Given the description of an element on the screen output the (x, y) to click on. 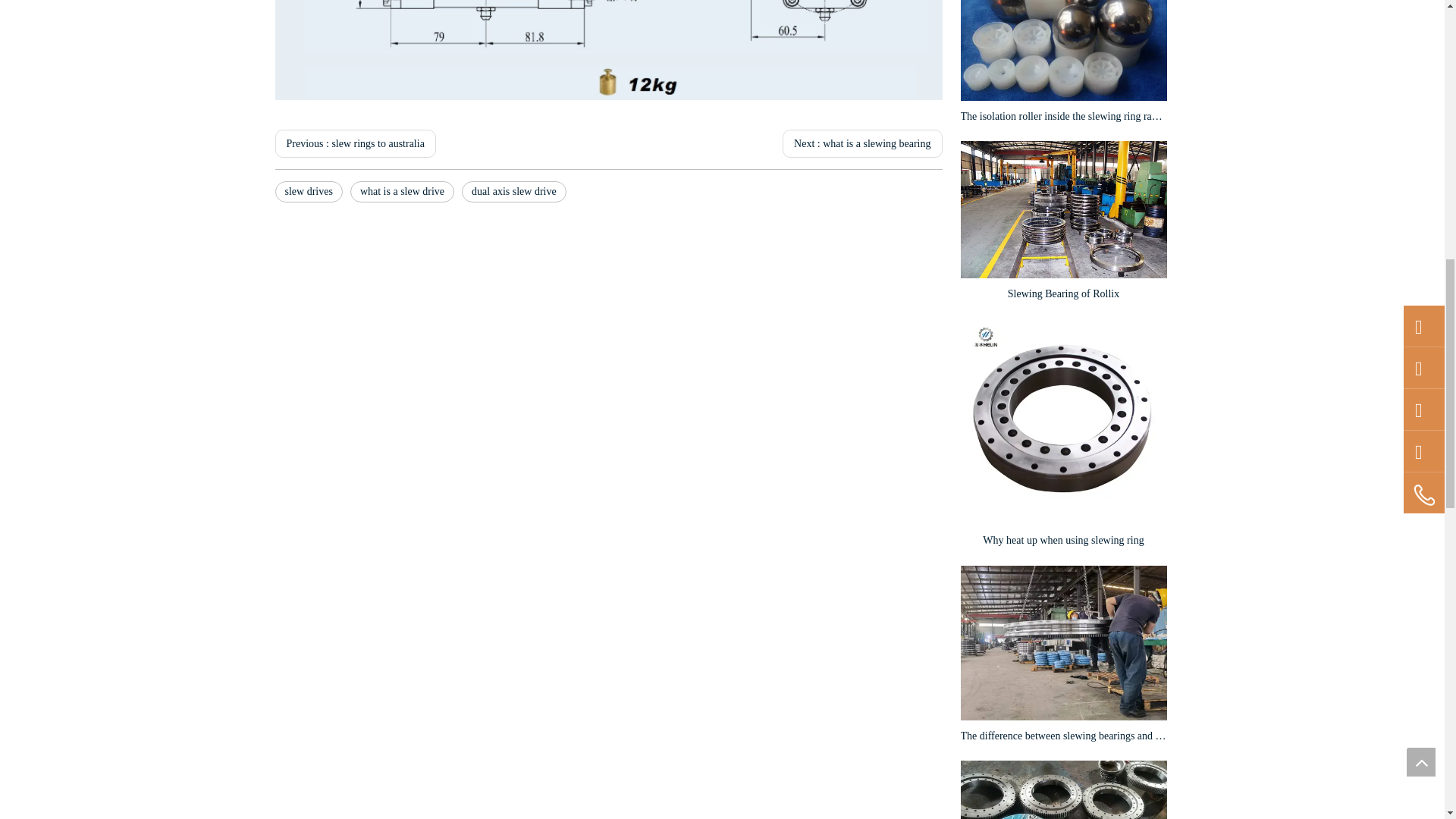
Slewing Bearing of Rollix (1062, 209)
Why heat up when using slewing ring (1062, 421)
Slewing Bearing of Rollix (1062, 293)
slew drives (308, 190)
dual axis slew drive (513, 190)
what is a slew drive (402, 190)
